Given the description of an element on the screen output the (x, y) to click on. 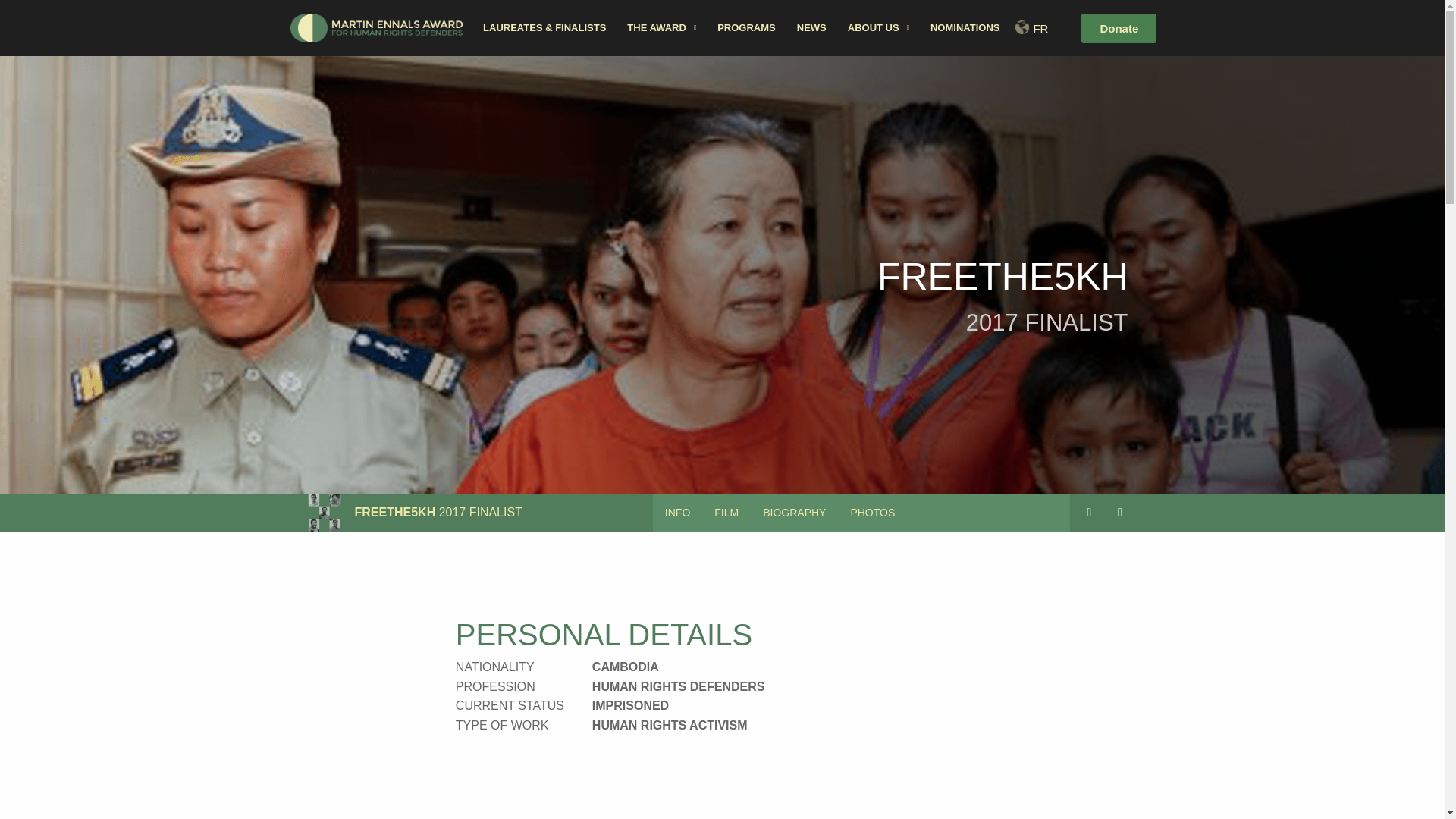
INFO (861, 512)
Donate (676, 512)
ABOUT US (1118, 28)
BIOGRAPHY (877, 28)
PHOTOS (794, 512)
PROGRAMS (872, 512)
FILM (746, 28)
NOMINATIONS (726, 512)
FR (964, 28)
